Given the description of an element on the screen output the (x, y) to click on. 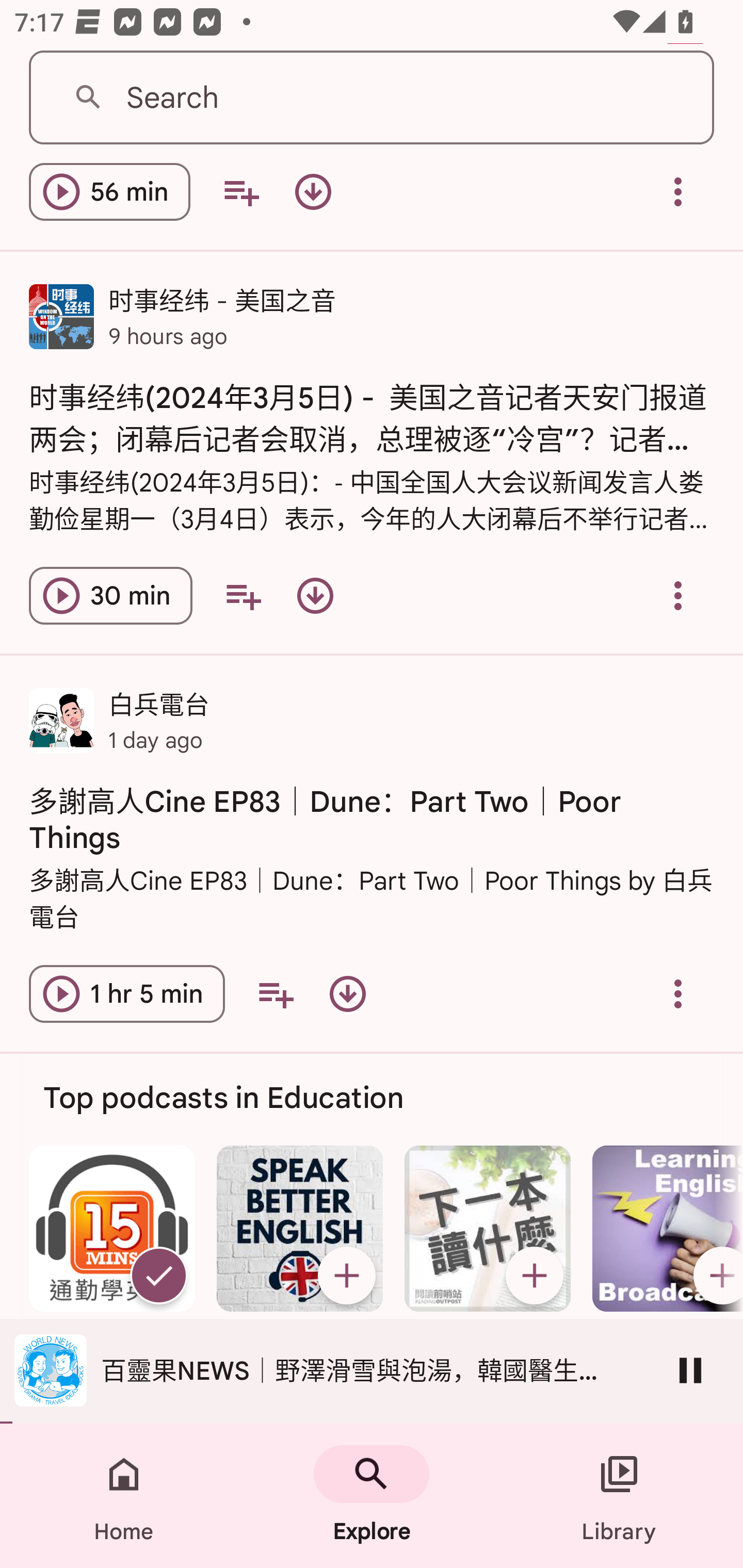
Search (371, 97)
Play episode EP200 溝通無效！！！ 56 min (109, 193)
Add to your queue (241, 193)
Download episode (313, 193)
Overflow menu (677, 193)
Add to your queue (242, 595)
Download episode (315, 595)
Overflow menu (677, 595)
Add to your queue (275, 994)
Download episode (347, 994)
Overflow menu (677, 994)
下一本讀什麼？ Subscribe 下一本讀什麼？ 閱讀前哨站 瓦基 (487, 1279)
Unsubscribe (158, 1275)
Subscribe (346, 1275)
Subscribe (534, 1275)
Subscribe (714, 1275)
Pause (690, 1370)
Home (123, 1495)
Library (619, 1495)
